Given the description of an element on the screen output the (x, y) to click on. 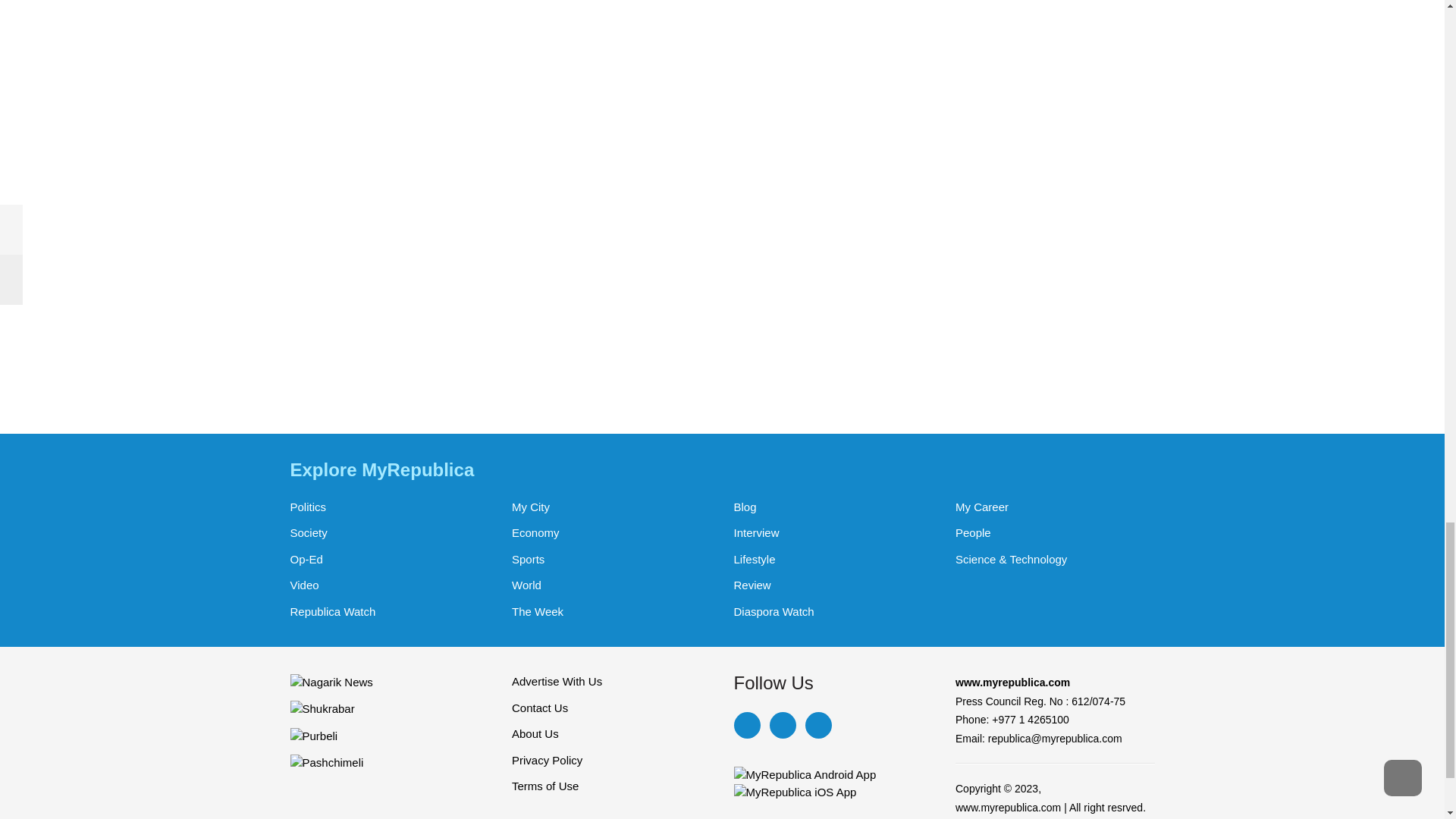
Youtube (818, 724)
Twitter (781, 724)
Facebook (746, 724)
